Given the description of an element on the screen output the (x, y) to click on. 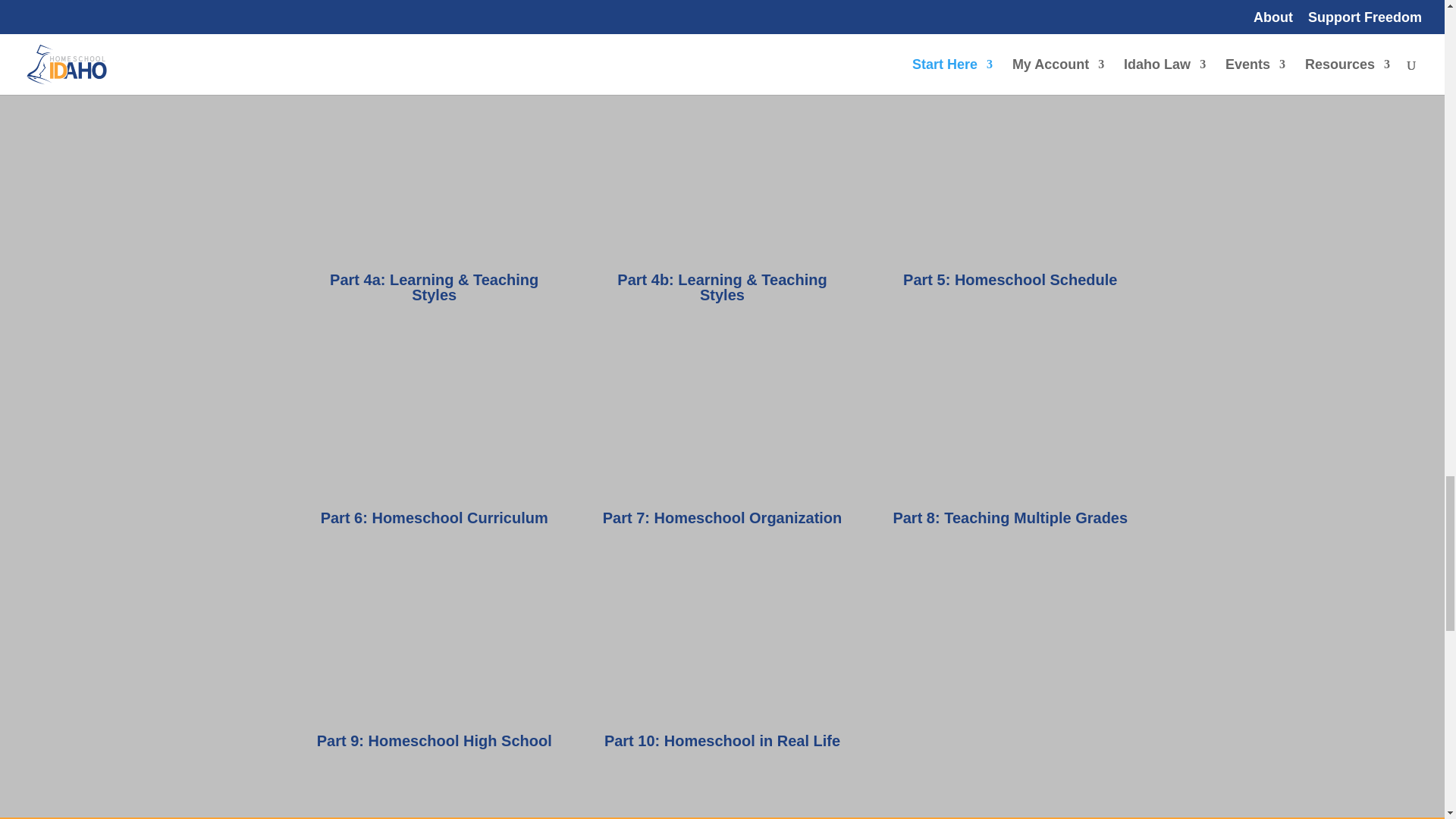
Session 2: Who, Why and When (721, 13)
Session 9: High School (433, 642)
Session 5: Homeschool Scheduling (1009, 181)
Session 6: Homeschool Curriculum (433, 419)
Session 8: Homeschooling Multiple Grades (1009, 419)
Session 3: Homeschool Parenting (1009, 13)
Session 10: Homeschool in Real Life (721, 642)
Session 4a: Homeschool Learning and Teaching Styles (433, 181)
Session 7: Homeschool Organization Tips (721, 419)
Session 1: Homeschool Overview (433, 13)
